Given the description of an element on the screen output the (x, y) to click on. 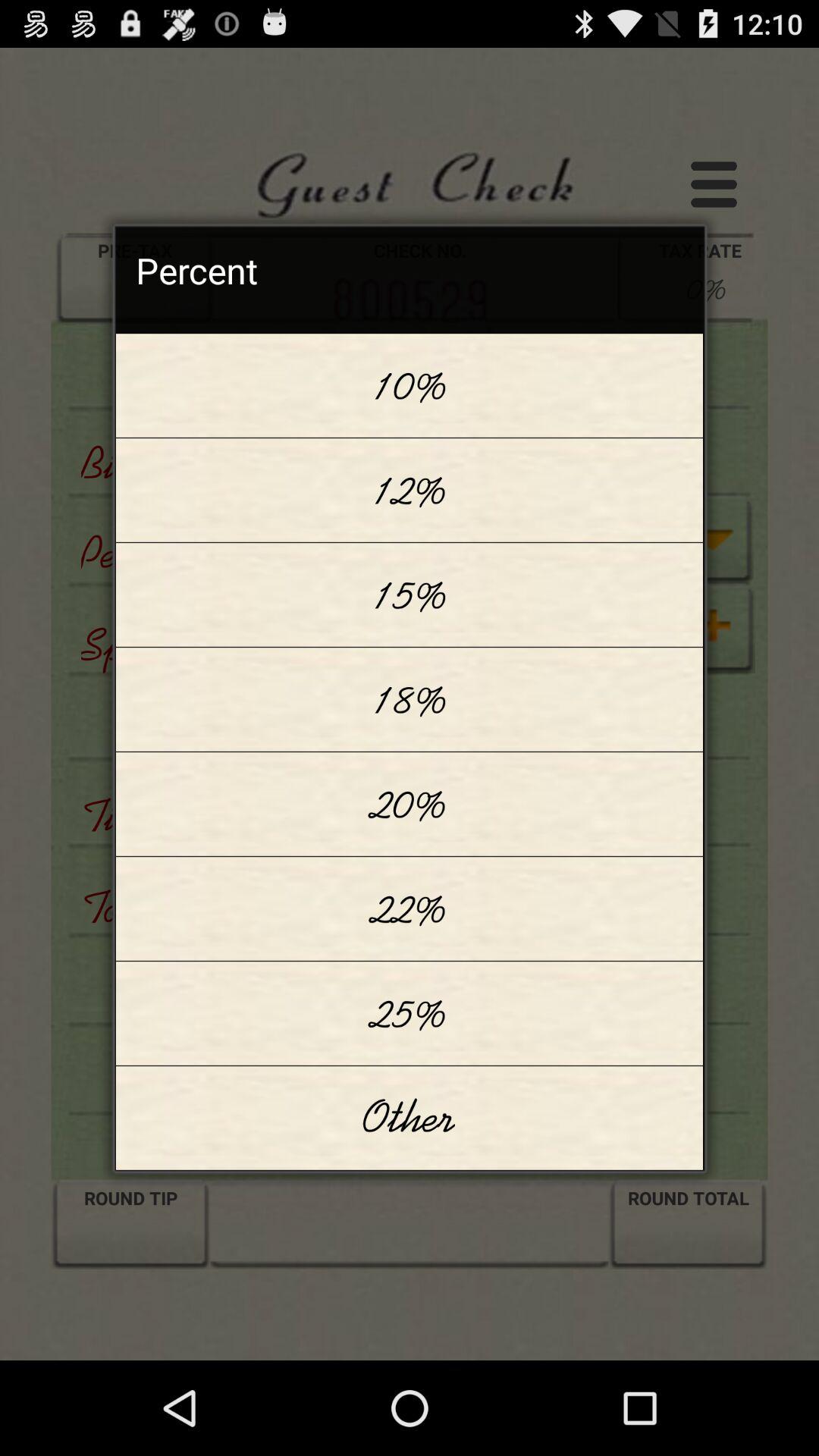
jump until the other icon (409, 1117)
